Given the description of an element on the screen output the (x, y) to click on. 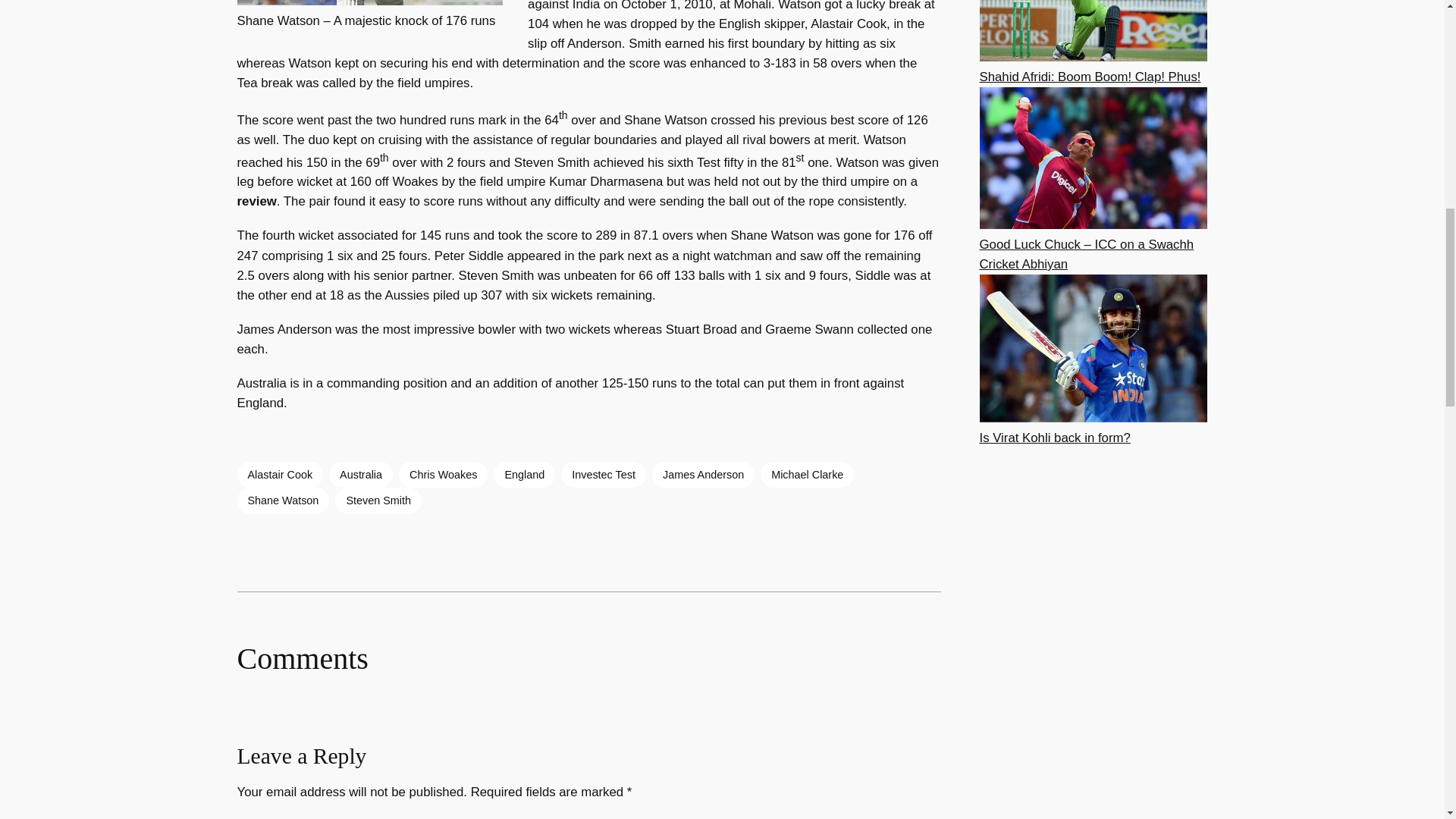
England (523, 474)
Steven Smith (378, 500)
Is Virat Kohli back in form? (1055, 437)
Alastair Cook (279, 474)
Chris Woakes (442, 474)
Shane Watson (282, 500)
Michael Clarke (806, 474)
James Anderson (703, 474)
Australia (361, 474)
Investec Test (603, 474)
